Given the description of an element on the screen output the (x, y) to click on. 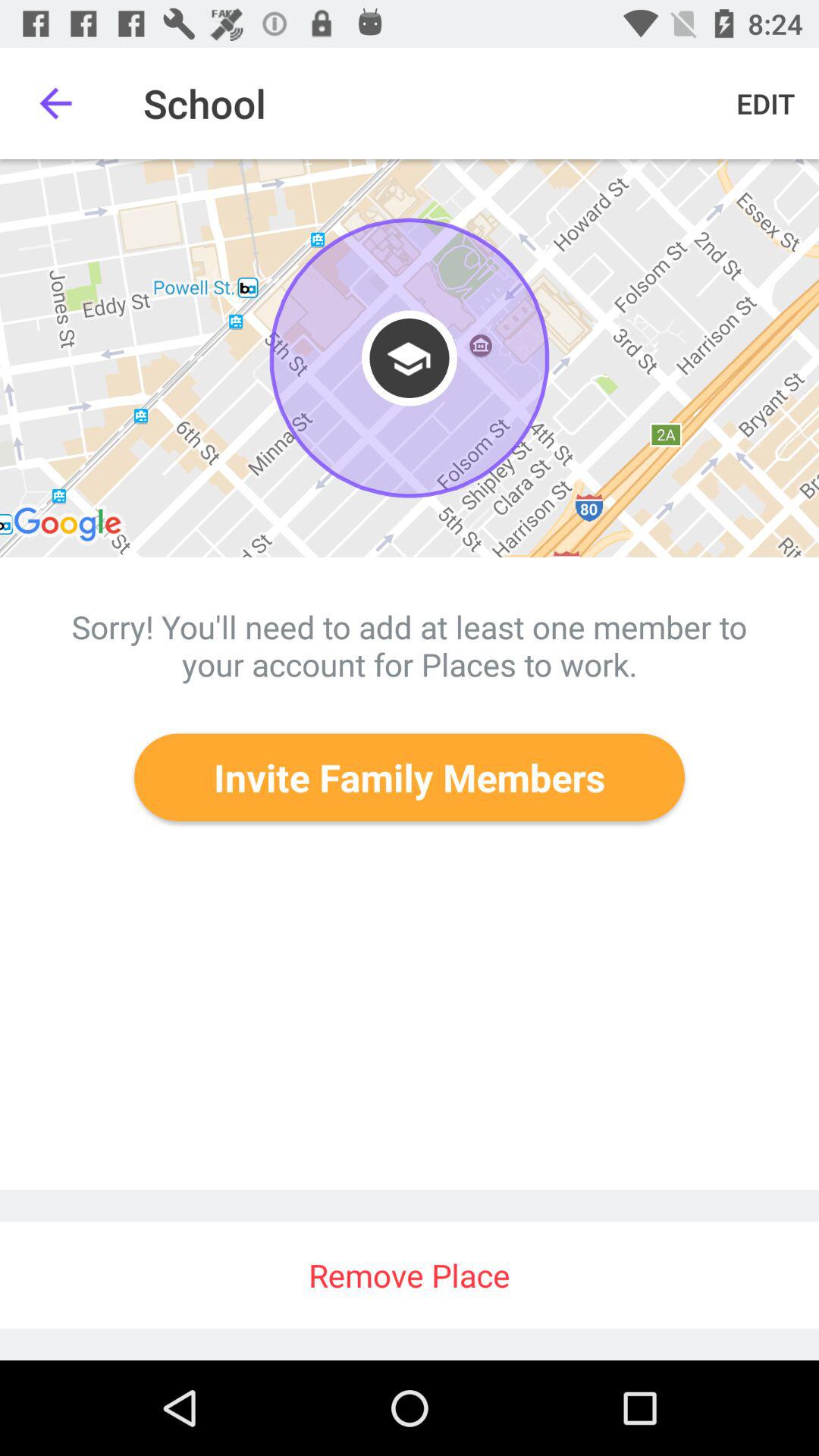
jump until the edit (765, 103)
